Given the description of an element on the screen output the (x, y) to click on. 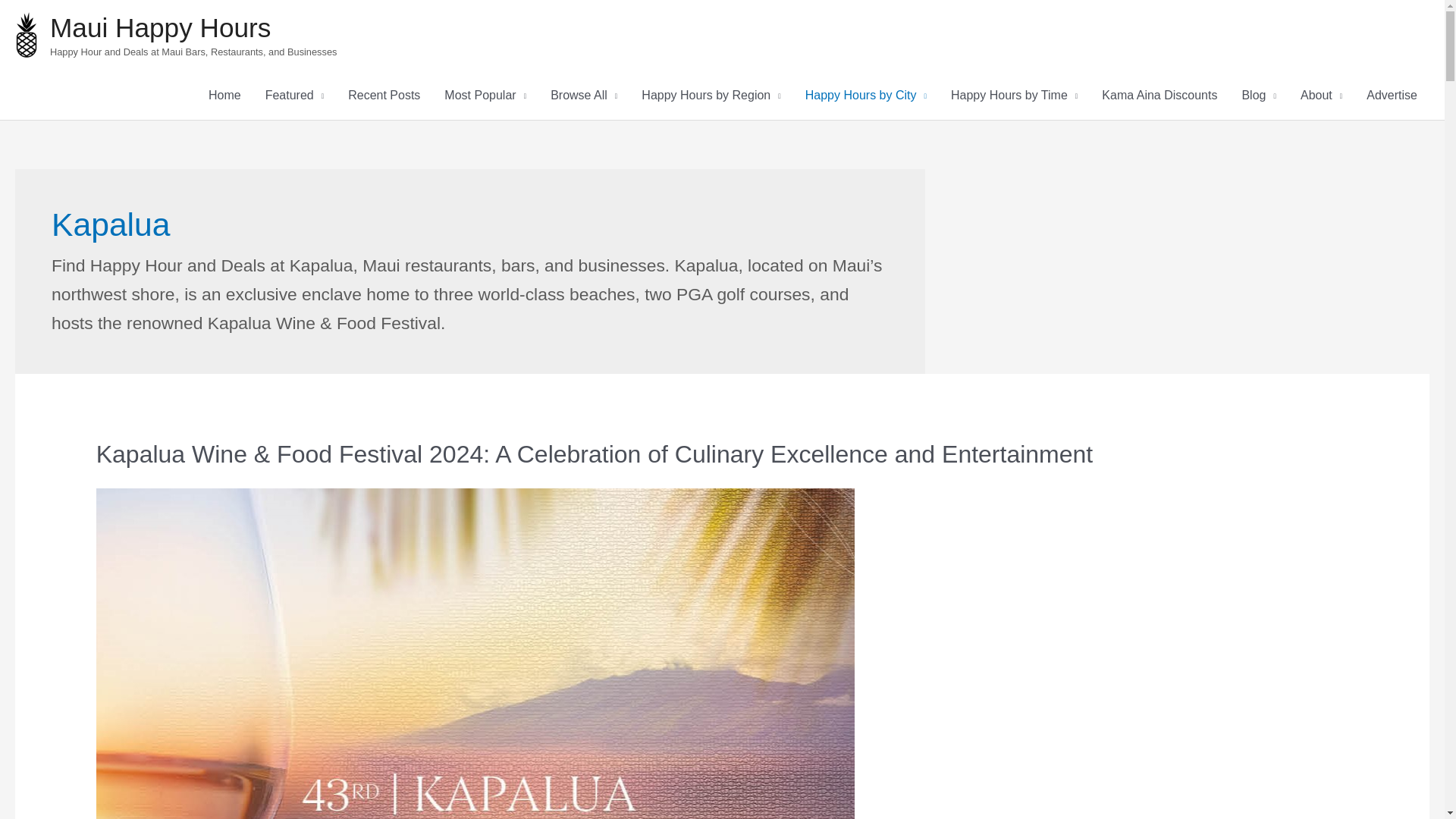
Browse All (583, 95)
Home (224, 95)
Featured (294, 95)
Maui Happy Hours (159, 27)
Recent Posts (384, 95)
Most Popular (485, 95)
